Given the description of an element on the screen output the (x, y) to click on. 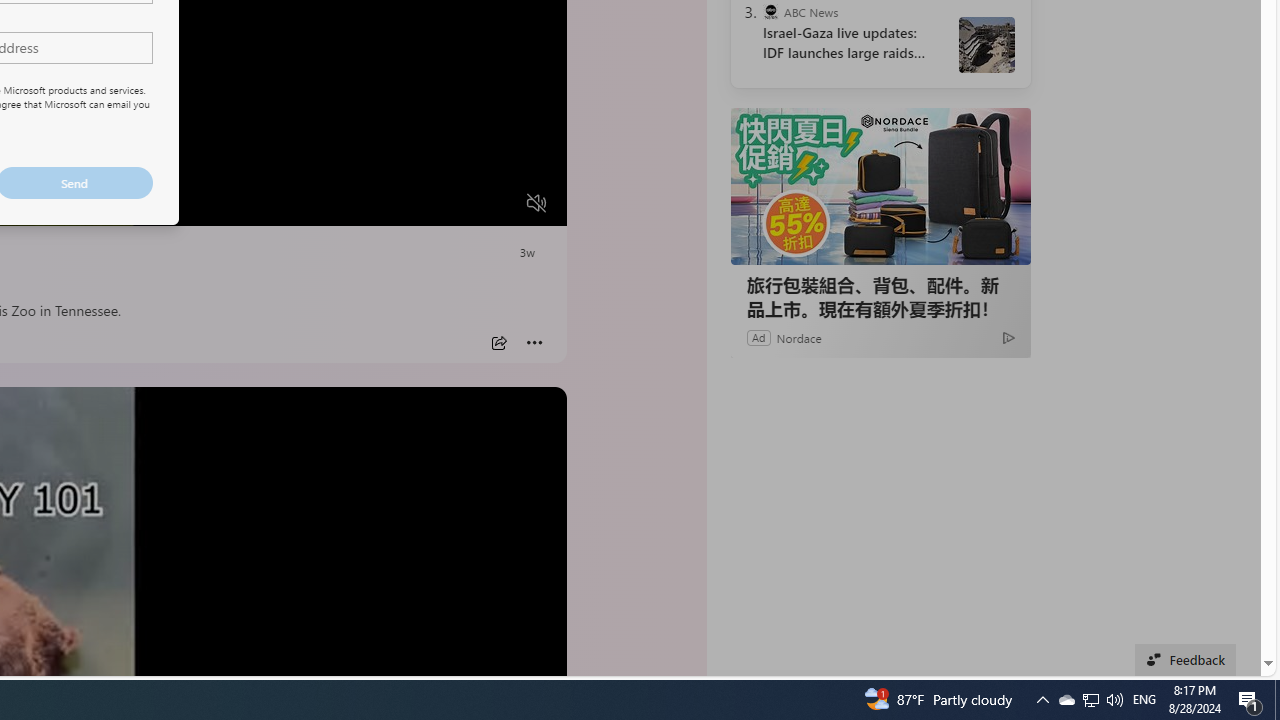
Share (498, 343)
